Given the description of an element on the screen output the (x, y) to click on. 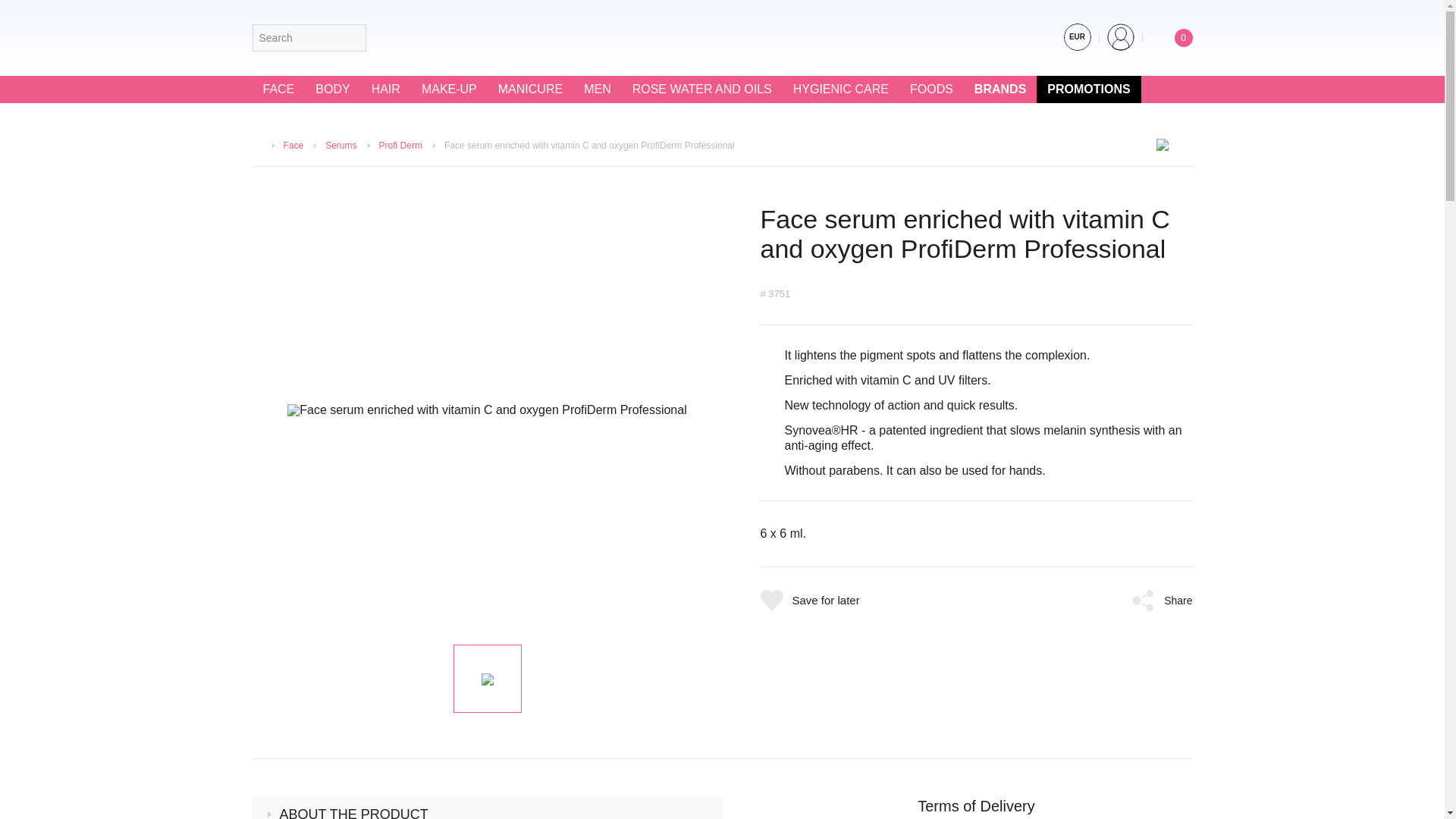
BODY (331, 89)
Cosmetics Bulgaria (722, 37)
0 (1171, 37)
Facebook (384, 37)
FACE (277, 89)
Instsagram (413, 37)
Search (351, 37)
